Given the description of an element on the screen output the (x, y) to click on. 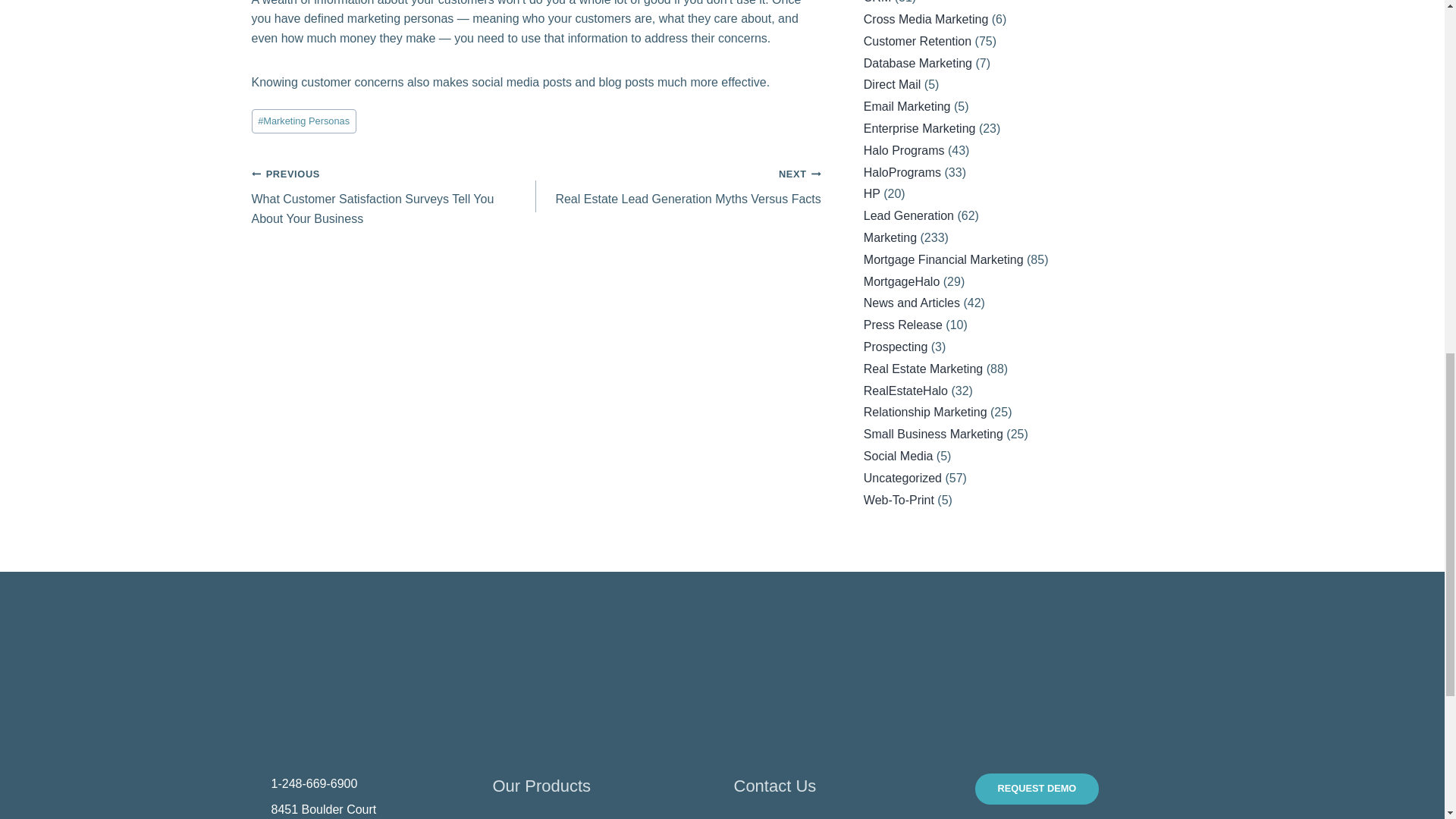
Marketing Personas (303, 121)
